Given the description of an element on the screen output the (x, y) to click on. 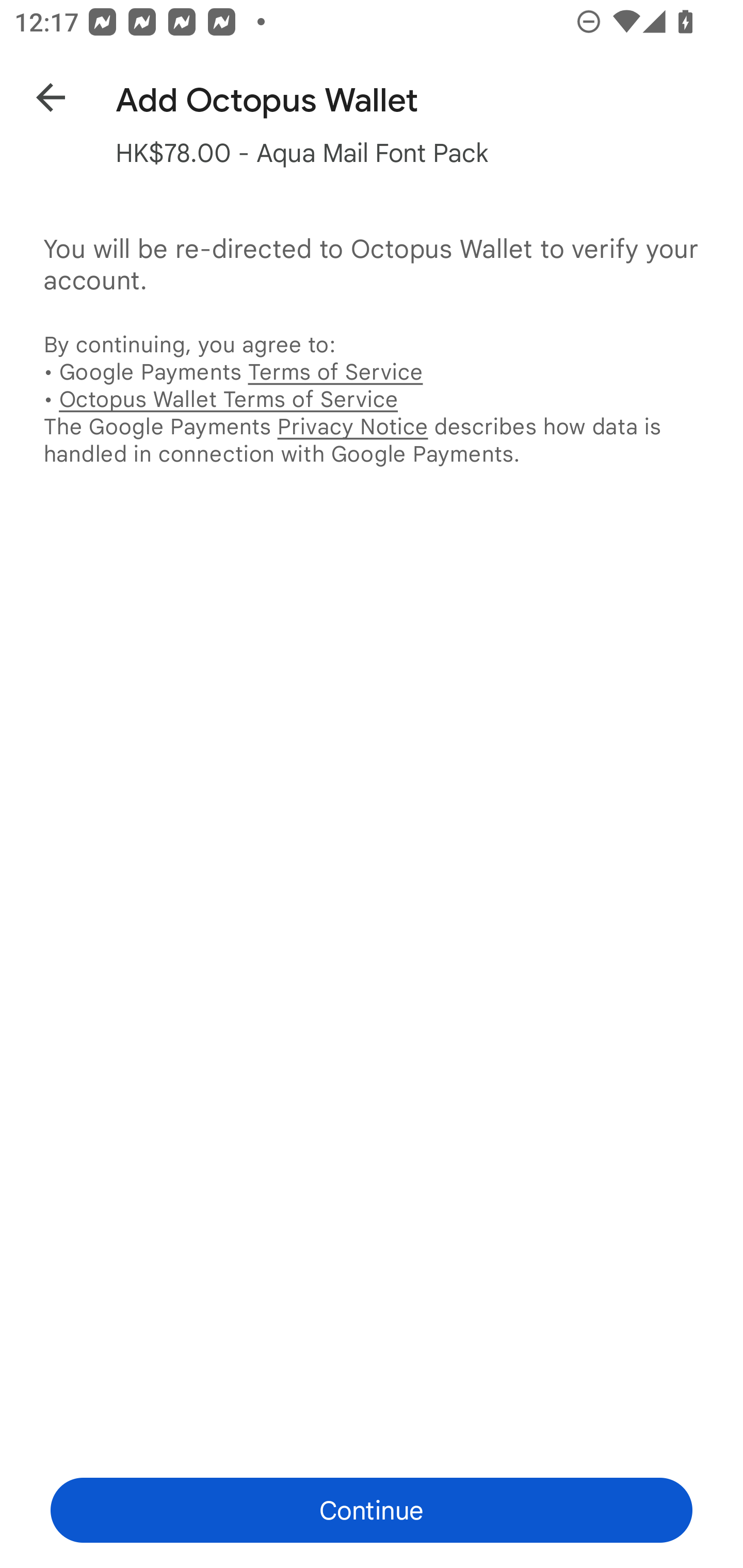
Back (36, 94)
Terms of Service (334, 372)
Octopus Wallet Terms of Service (227, 398)
Privacy Notice (352, 426)
Continue (371, 1510)
